Given the description of an element on the screen output the (x, y) to click on. 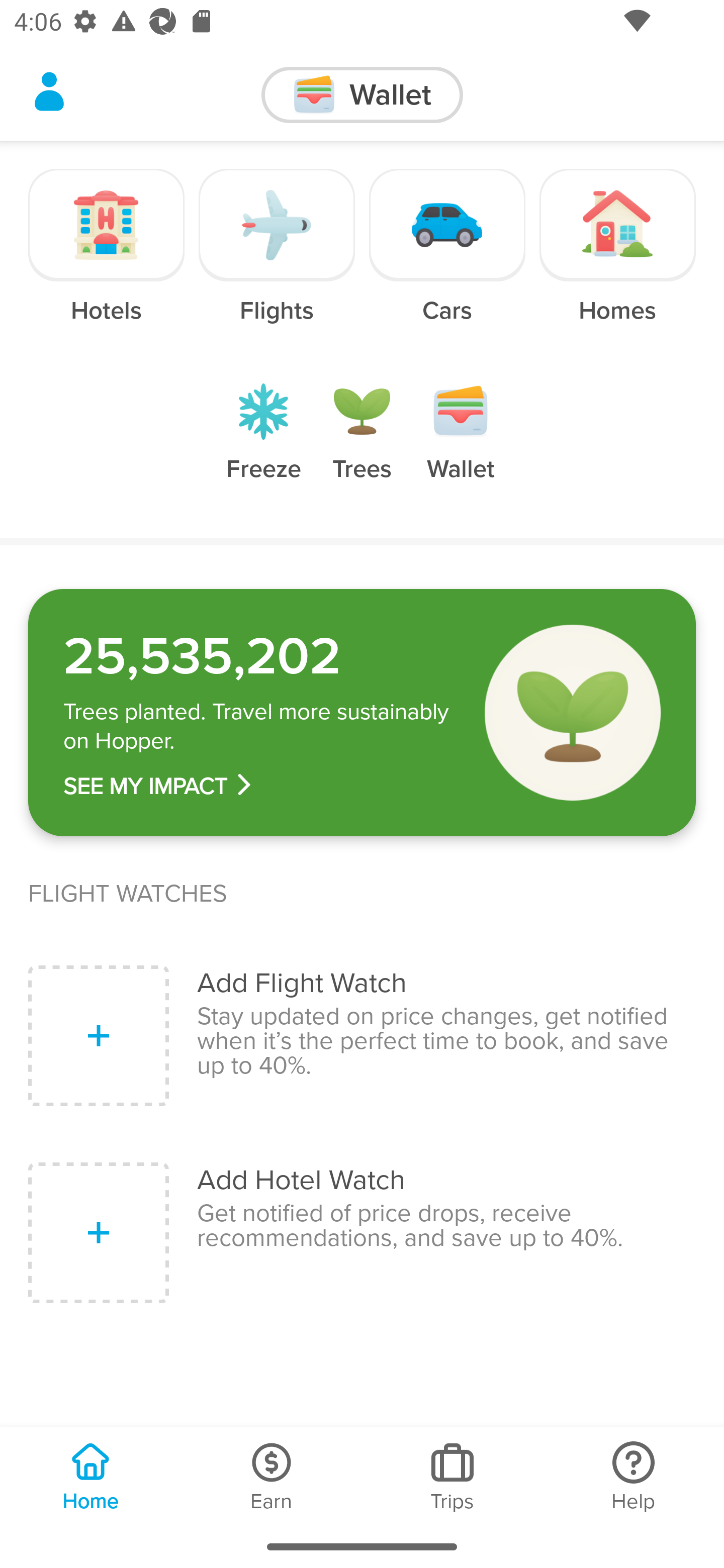
‍Wallet (362, 95)
Hotels (106, 260)
Flights (276, 260)
Cars (447, 260)
Homes (617, 260)
Freeze (263, 446)
Trees (361, 446)
Wallet (460, 446)
‍25,535,202 (259, 656)
‍Trees planted. Travel more sustainably on Hopper. (259, 726)
‍SEE MY IMPACT ​ (259, 786)
Earn (271, 1475)
Trips (452, 1475)
Help (633, 1475)
